Given the description of an element on the screen output the (x, y) to click on. 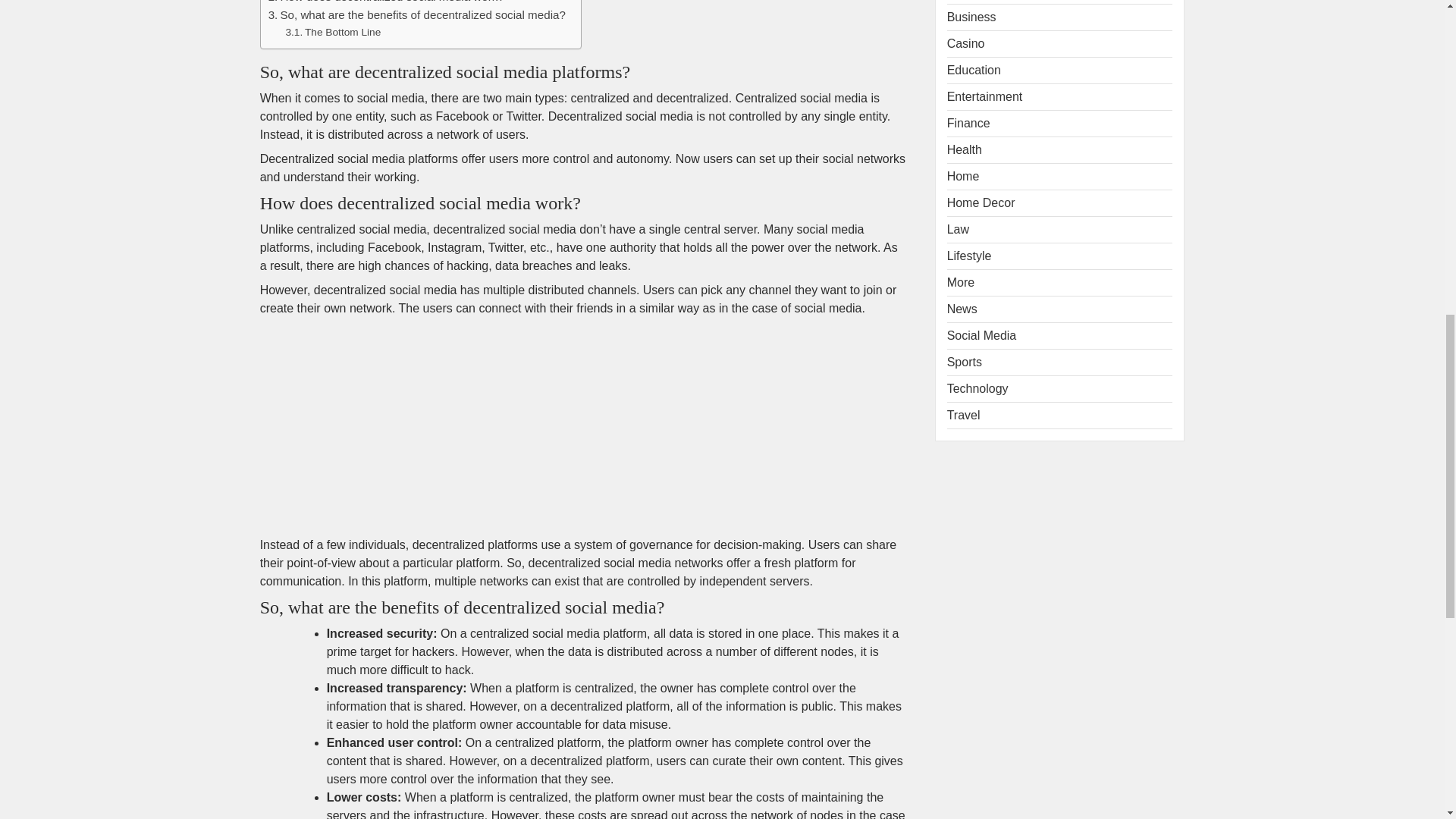
So, what are the benefits of decentralized social media? (416, 14)
How does decentralized social media work? (385, 2)
The Bottom Line (332, 32)
